Given the description of an element on the screen output the (x, y) to click on. 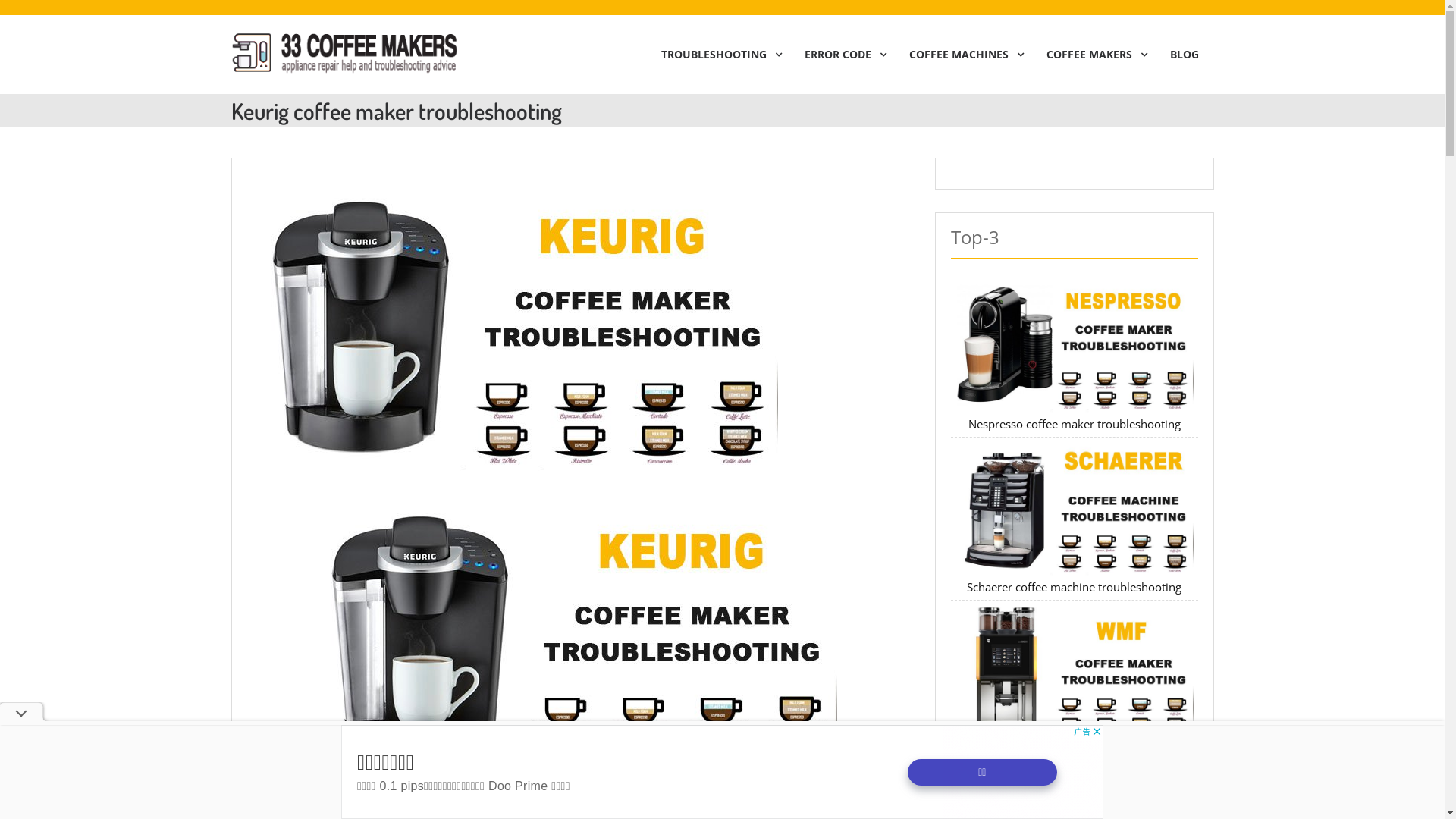
COFFEE MAKERS Element type: text (1092, 54)
COFFEE MACHINES Element type: text (961, 54)
WMF coffee maker troubleshooting Element type: text (1074, 749)
ERROR CODE Element type: text (840, 54)
TROUBLESHOOTING Element type: text (717, 54)
BLOG Element type: text (1183, 54)
Schaerer coffee machine troubleshooting Element type: text (1073, 586)
Nespresso coffee maker troubleshooting Element type: text (1074, 423)
